Given the description of an element on the screen output the (x, y) to click on. 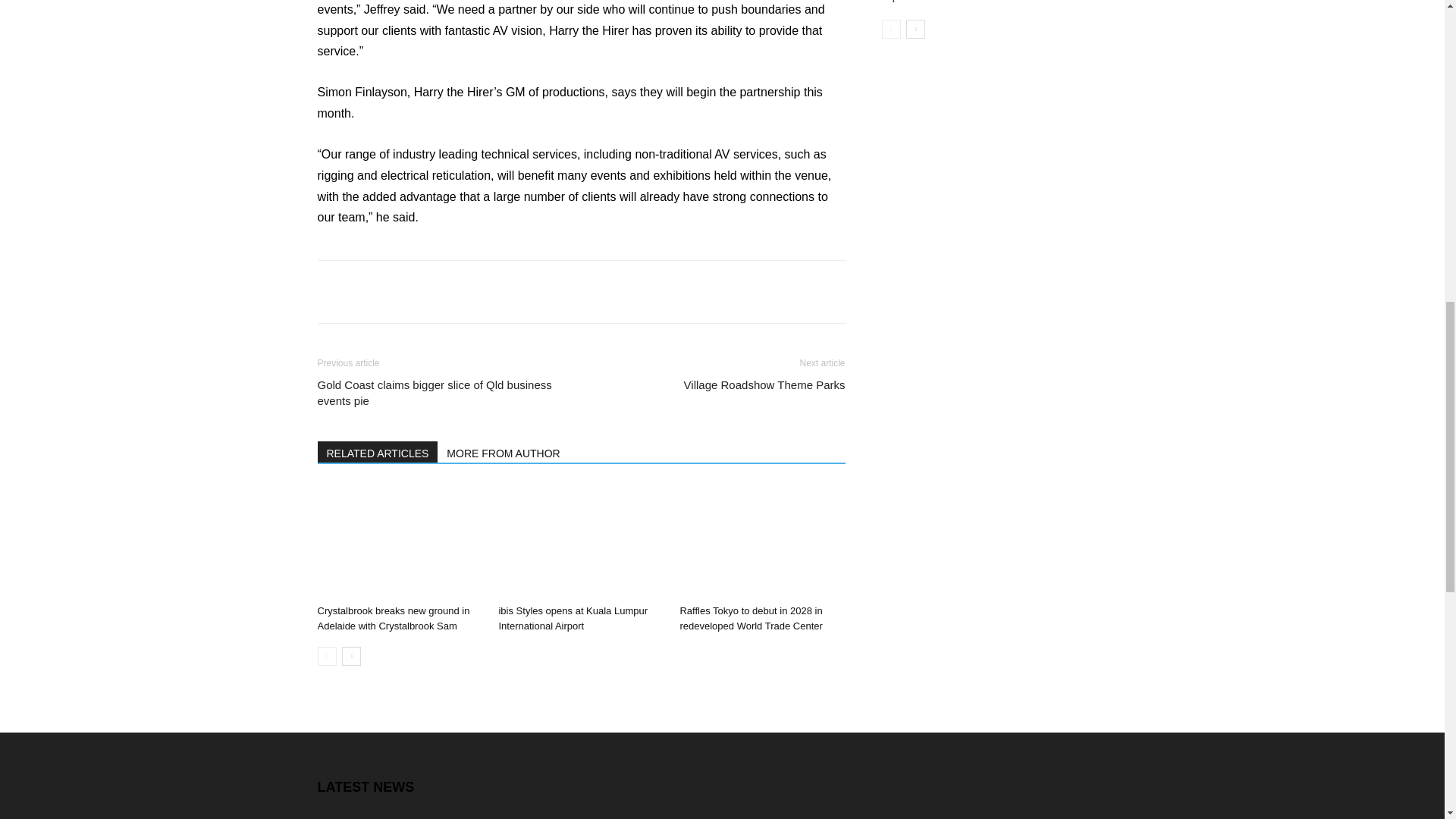
ibis Styles opens at Kuala Lumpur International Airport (572, 618)
Gold Coast claims bigger slice of Qld business events pie (439, 392)
RELATED ARTICLES (377, 451)
MORE FROM AUTHOR (503, 451)
Village Roadshow Theme Parks (764, 384)
